Given the description of an element on the screen output the (x, y) to click on. 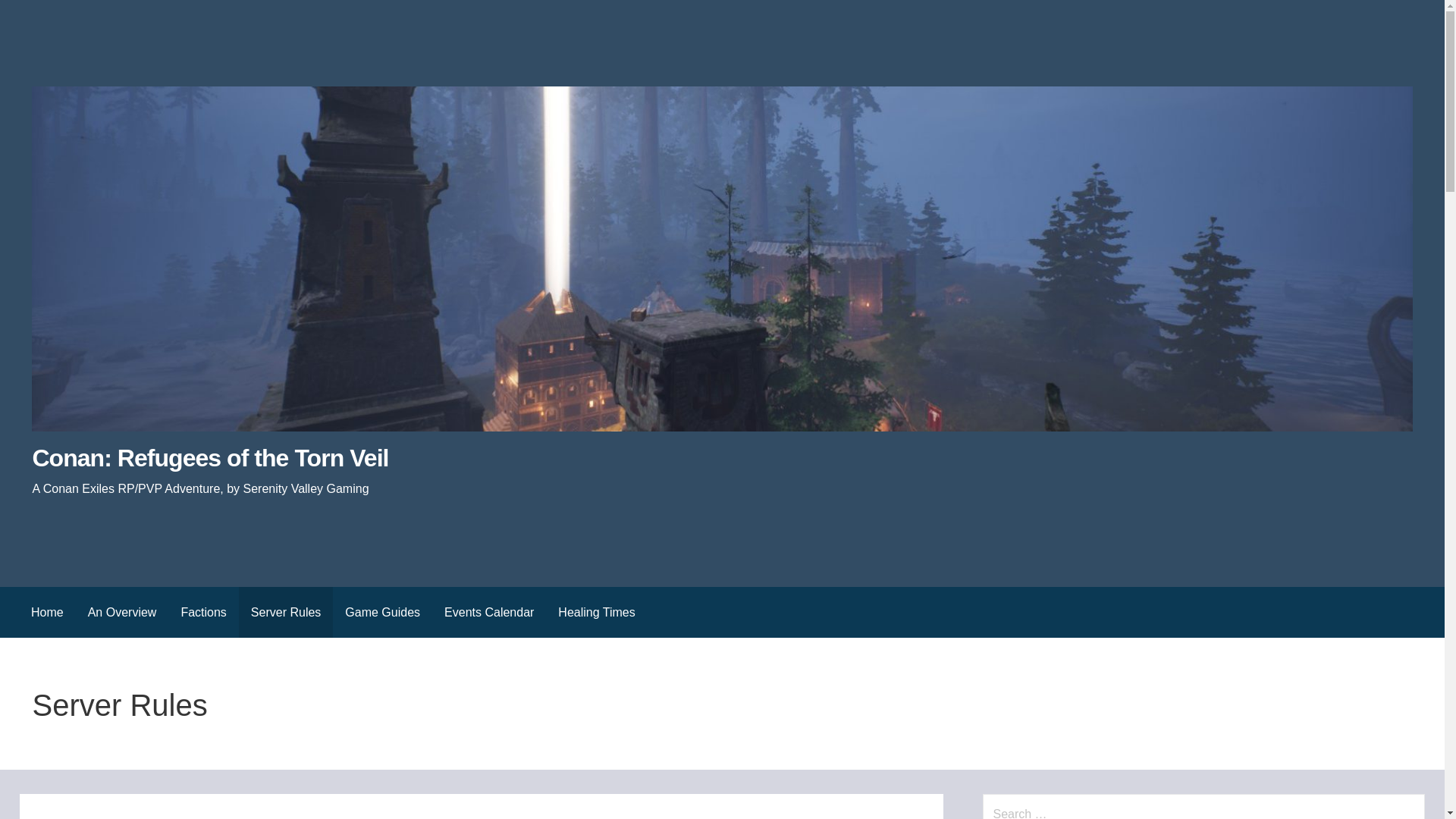
Search (31, 15)
Events Calendar (489, 612)
An Overview (121, 612)
Server Rules (285, 612)
Conan: Refugees of the Torn Veil (210, 457)
Healing Times (596, 612)
Game Guides (382, 612)
Factions (203, 612)
Home (46, 612)
